Given the description of an element on the screen output the (x, y) to click on. 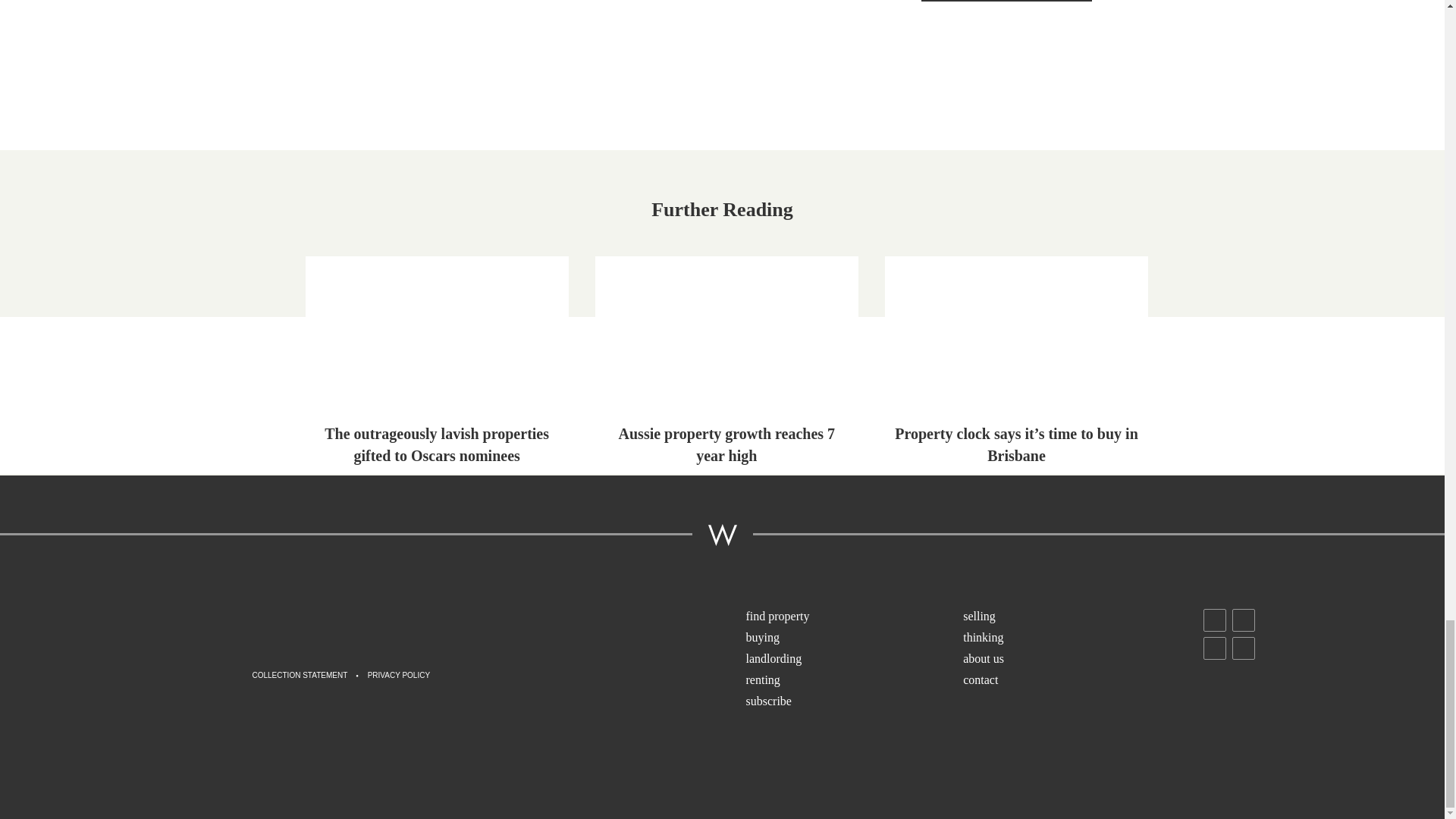
renting (852, 680)
find property (852, 617)
contact (1069, 680)
The outrageously lavish properties gifted to Oscars nominees (436, 364)
subscribe (852, 701)
Aussie property growth reaches 7 year high (726, 364)
landlording (852, 659)
selling (1069, 617)
buying (852, 638)
about us (1069, 659)
COLLECTION STATEMENT (300, 676)
PRIVACY POLICY (398, 676)
thinking (1069, 638)
